Given the description of an element on the screen output the (x, y) to click on. 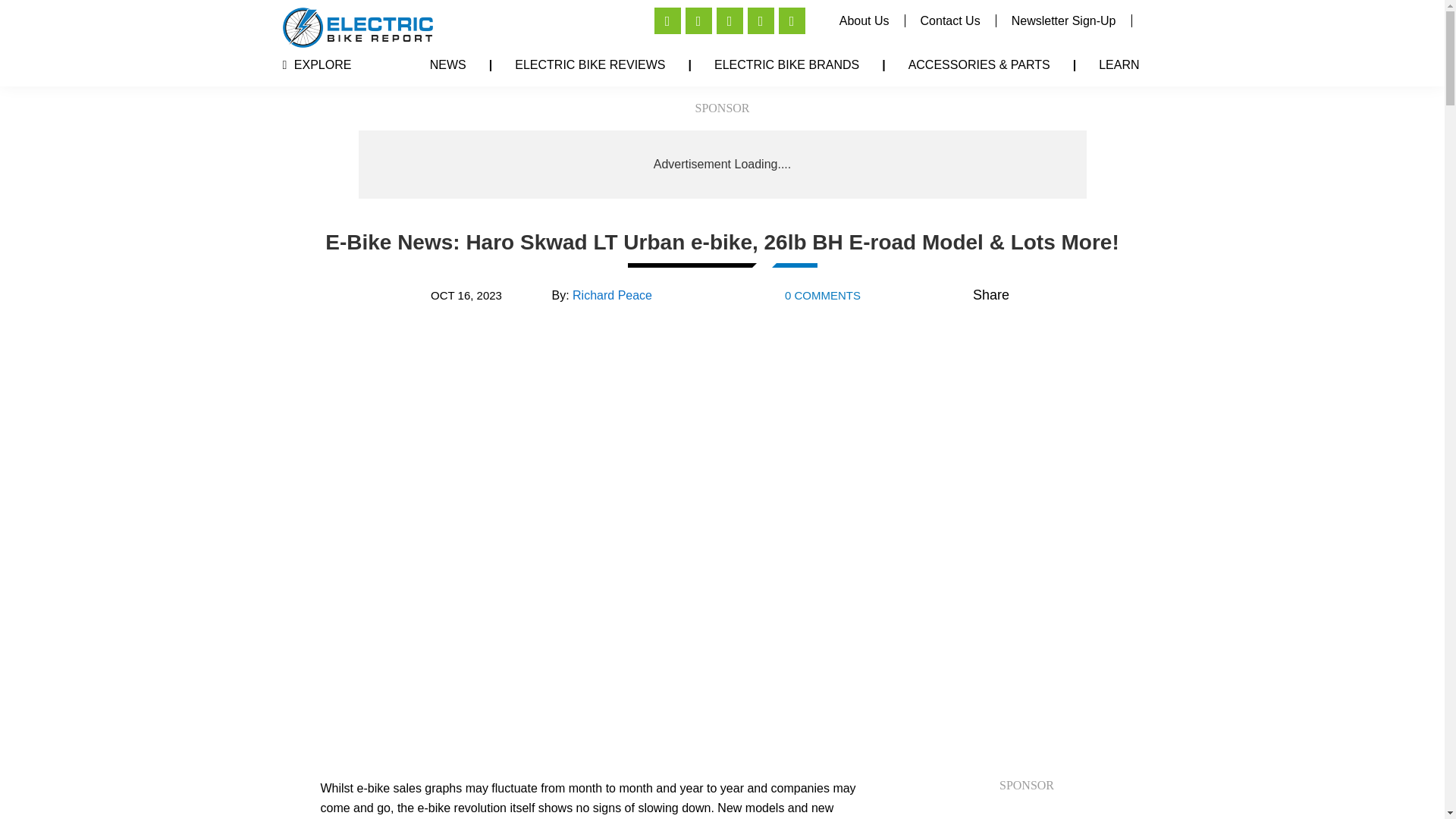
About Us (864, 19)
ELECTRIC BIKE REVIEWS (589, 64)
Search (1154, 5)
LEARN (1118, 64)
Contact Us (950, 19)
3rd party ad content (1027, 813)
EXPLORE (316, 64)
ELECTRIC BIKE BRANDS (786, 64)
3rd party ad content (722, 164)
